Given the description of an element on the screen output the (x, y) to click on. 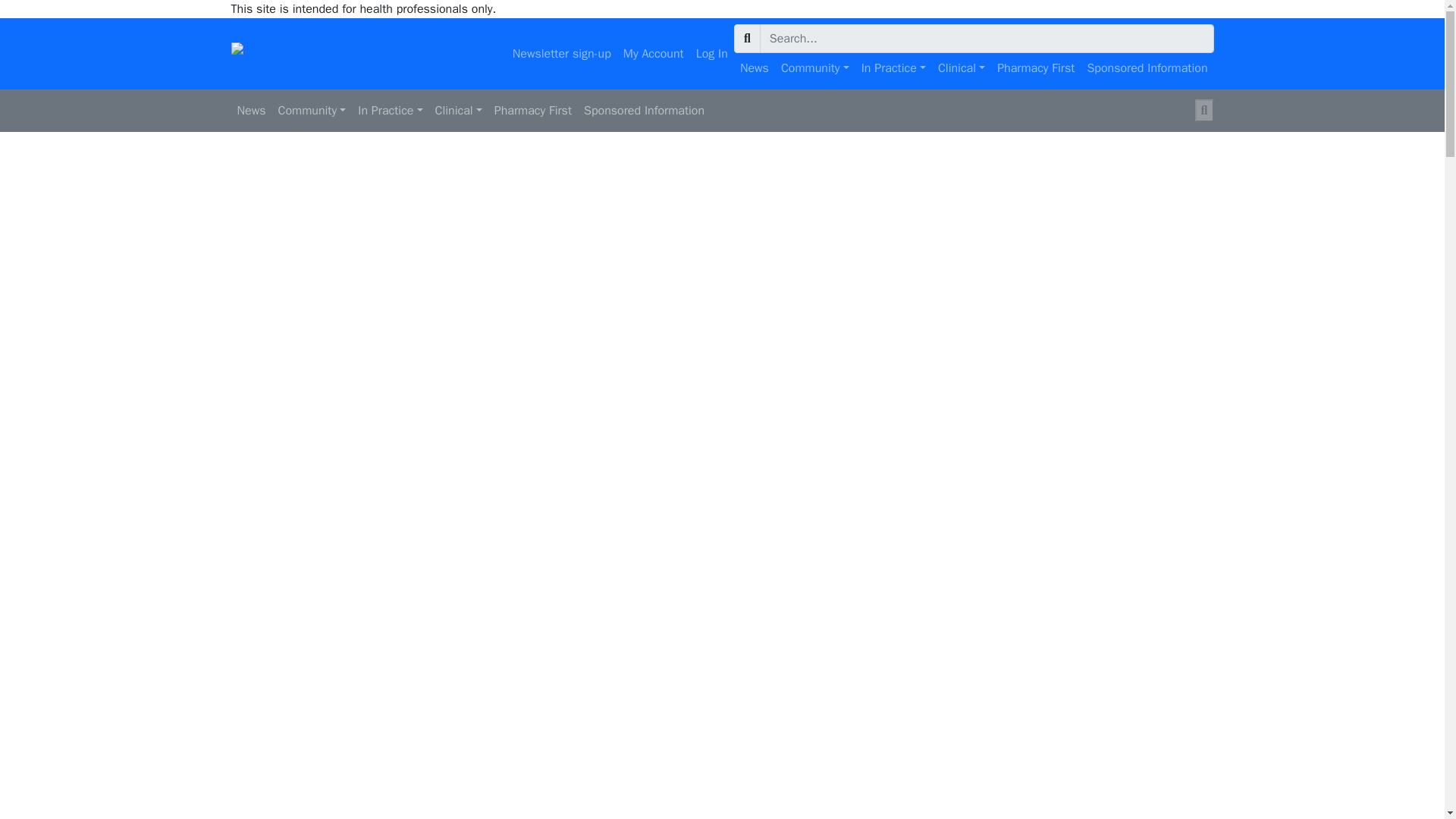
News (753, 68)
In Practice (893, 68)
Log In (711, 53)
Community (815, 68)
The Pharmacist (287, 53)
Clinical (961, 68)
Newsletter sign-up (561, 53)
My Account (653, 53)
Pharmacy First (1035, 68)
